Given the description of an element on the screen output the (x, y) to click on. 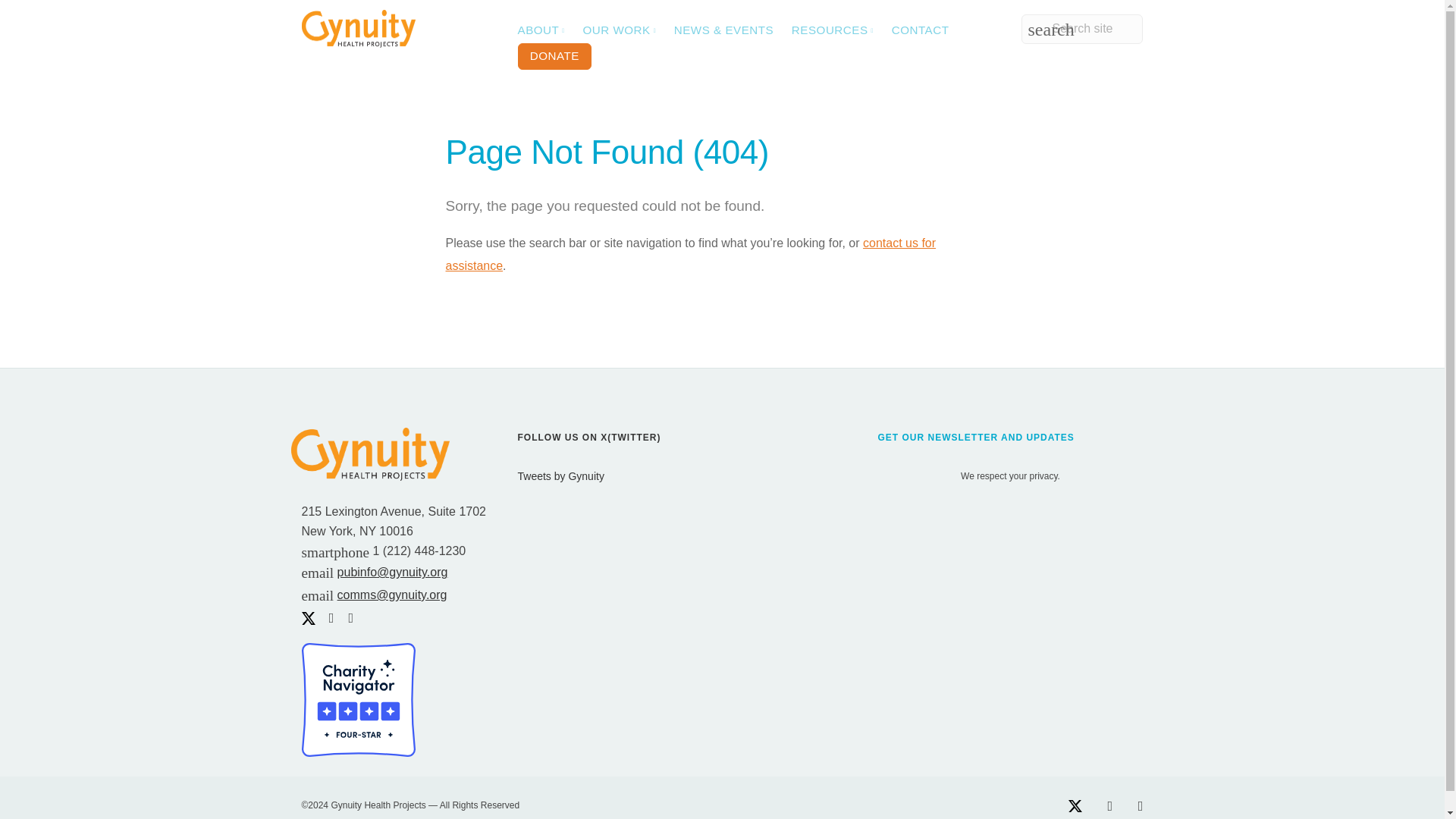
DONATE (553, 56)
Go to Gynuity's profile on Charity Navigator (357, 698)
Tweets by Gynuity (560, 476)
CONTACT (920, 29)
contact us for assistance (690, 253)
